Given the description of an element on the screen output the (x, y) to click on. 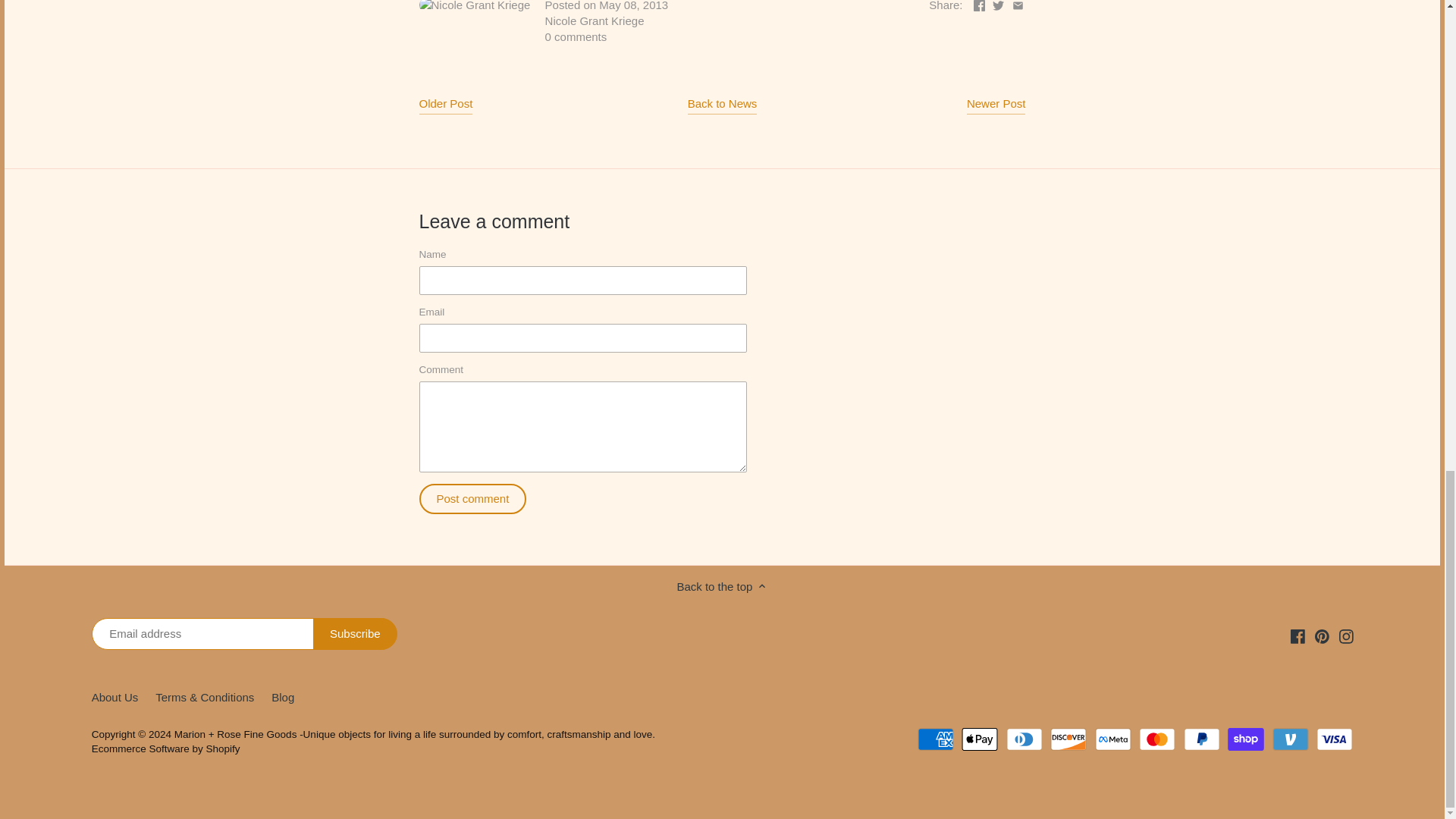
Older Post (445, 106)
Meta Pay (1112, 739)
Discover (1067, 739)
American Express (935, 739)
Facebook (1297, 635)
About Us (114, 697)
Instagram (1346, 635)
Facebook (1297, 635)
Facebook (979, 5)
Diners Club (1024, 739)
